Given the description of an element on the screen output the (x, y) to click on. 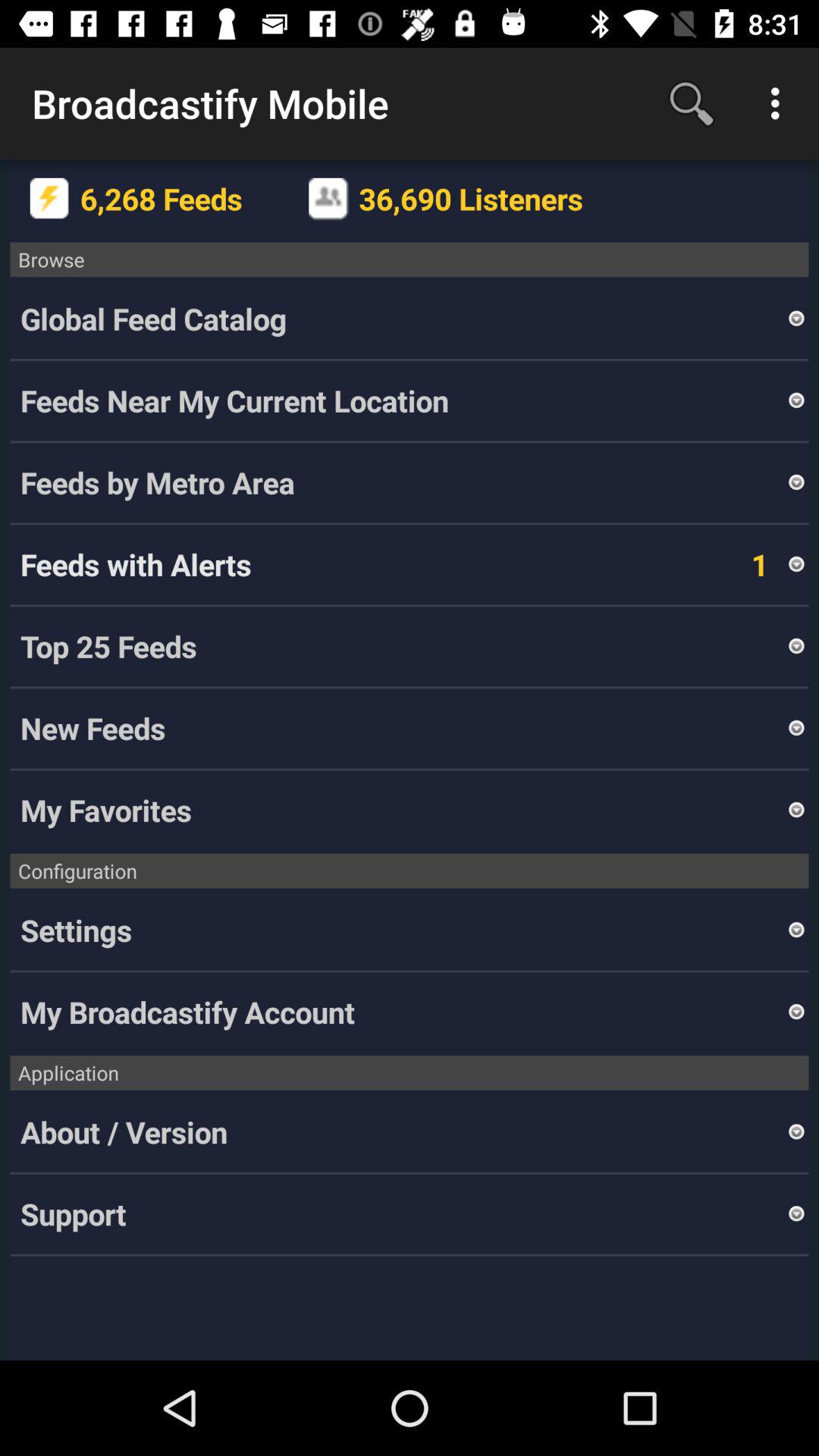
turn off the item above the browse item (328, 199)
